Given the description of an element on the screen output the (x, y) to click on. 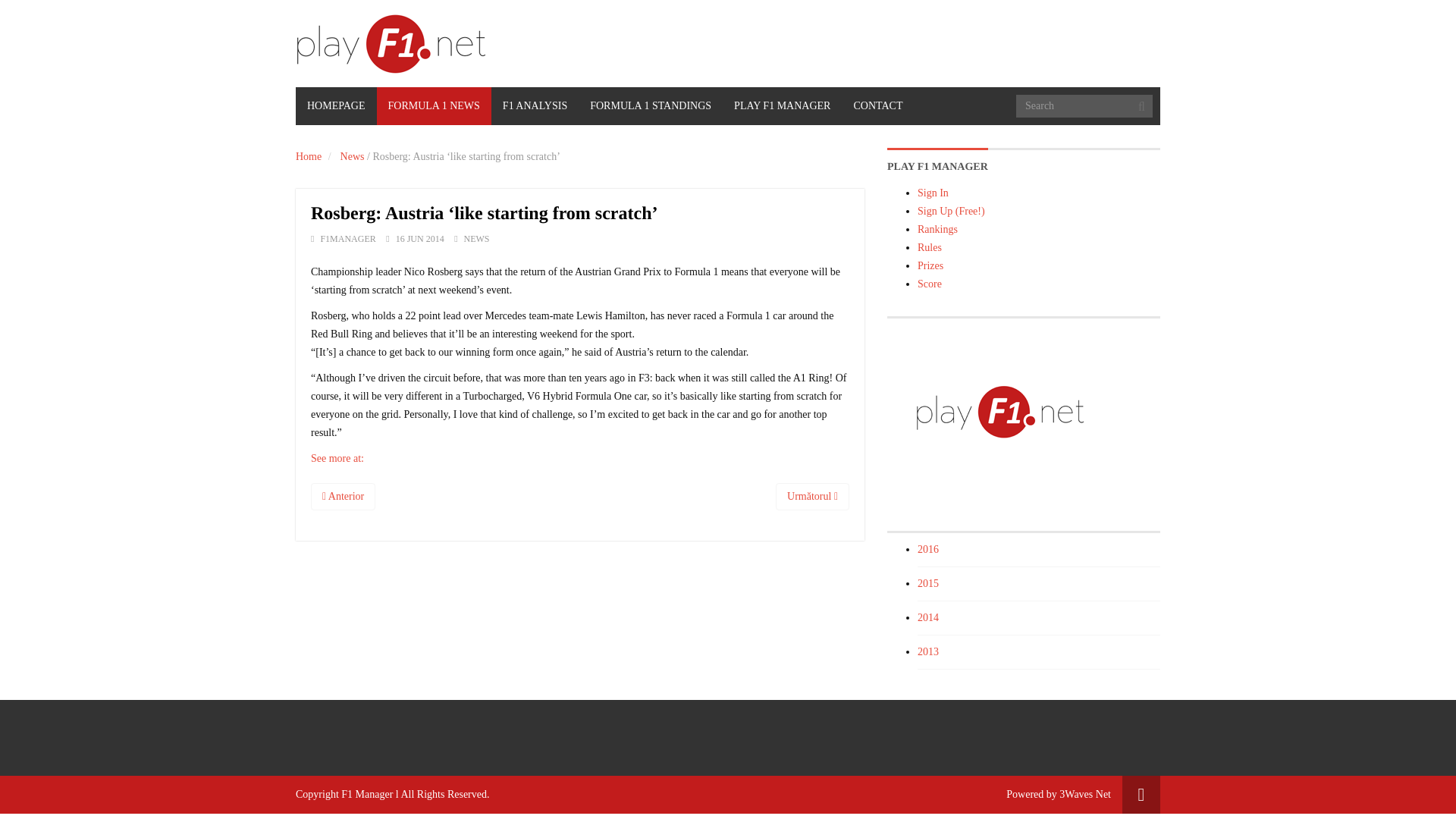
3Waves Net (1084, 794)
Score (929, 283)
Formula 1 Standings (650, 105)
Formula 1 News (432, 105)
Rankings (937, 229)
HOMEPAGE (336, 105)
F1 Manager (366, 794)
Sign In (933, 193)
2013 (928, 651)
Prizes (930, 265)
